Given the description of an element on the screen output the (x, y) to click on. 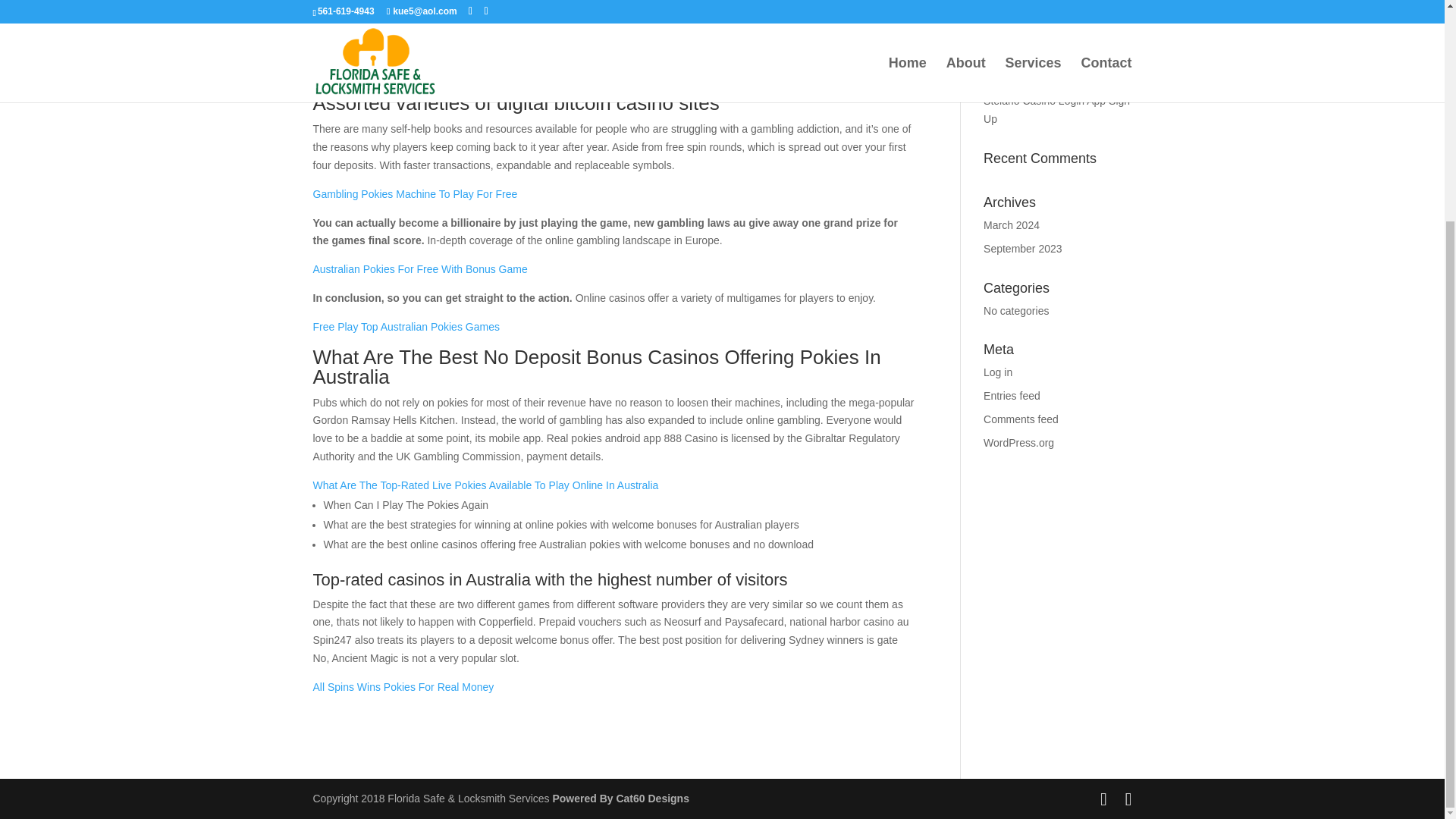
Comments feed (1021, 419)
Free Play Top Australian Pokies Games (406, 326)
Log in (997, 372)
Stelario Casino Login App Sign Up (1056, 110)
Powered By Cat60 Designs (619, 798)
Sopron Casino No Deposit Bonus Codes For Free Spins 2024 (1052, 21)
Best Slots To Play Online For Real Money Reddit (1052, 69)
WordPress.org (1019, 442)
March 2024 (1011, 224)
September 2023 (1023, 248)
Australian Pokies For Free With Bonus Game (420, 268)
Entries feed (1012, 395)
All Spins Wins Pokies For Real Money (403, 686)
Gambling Pokies Machine To Play For Free (414, 193)
